Given the description of an element on the screen output the (x, y) to click on. 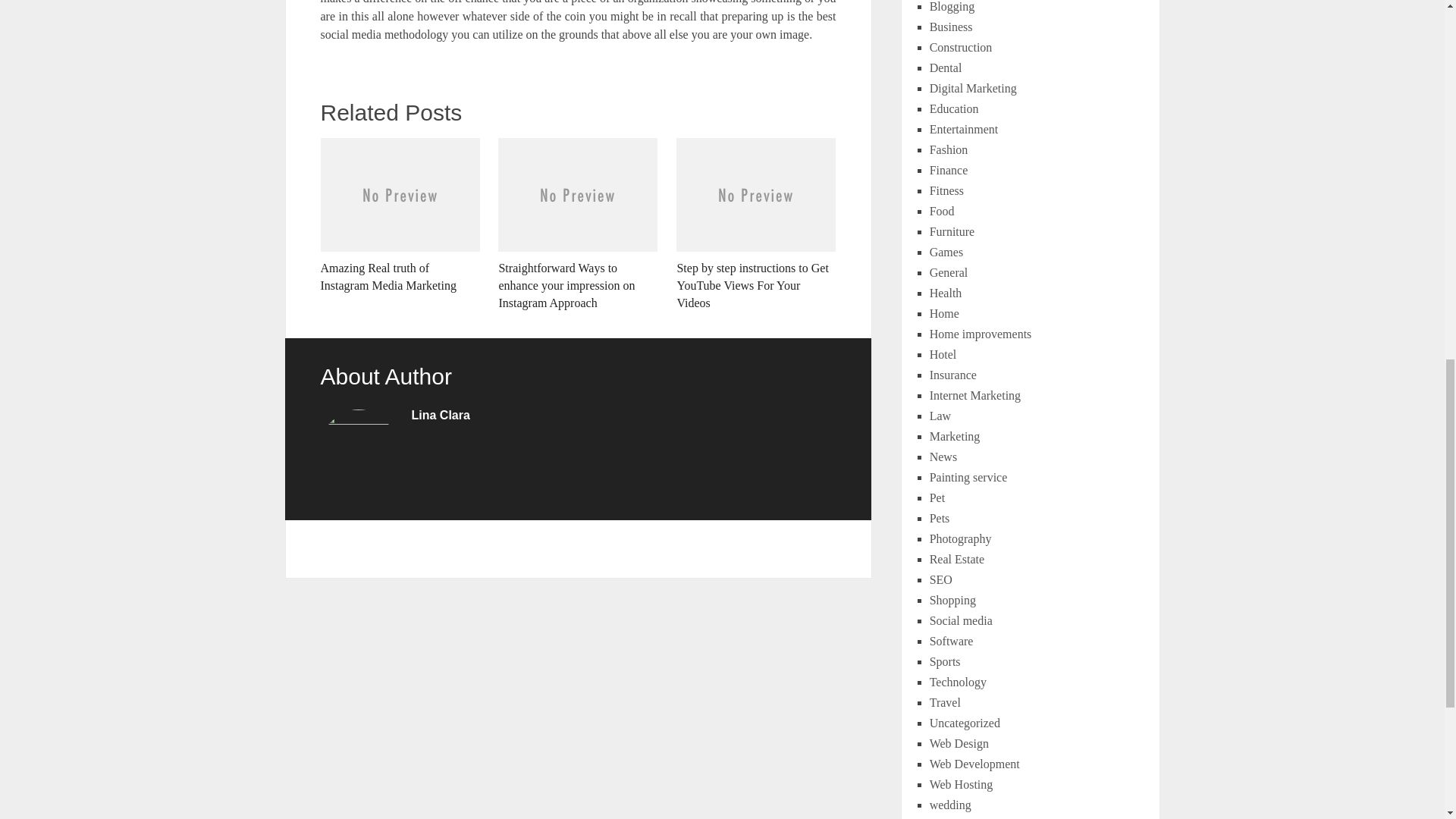
Construction (961, 47)
Entertainment (964, 128)
Finance (949, 169)
Games (946, 251)
Blogging (952, 6)
Home (944, 313)
Fashion (949, 149)
Education (954, 108)
Food (942, 210)
Furniture (952, 231)
Health (946, 292)
Dental (946, 67)
